Given the description of an element on the screen output the (x, y) to click on. 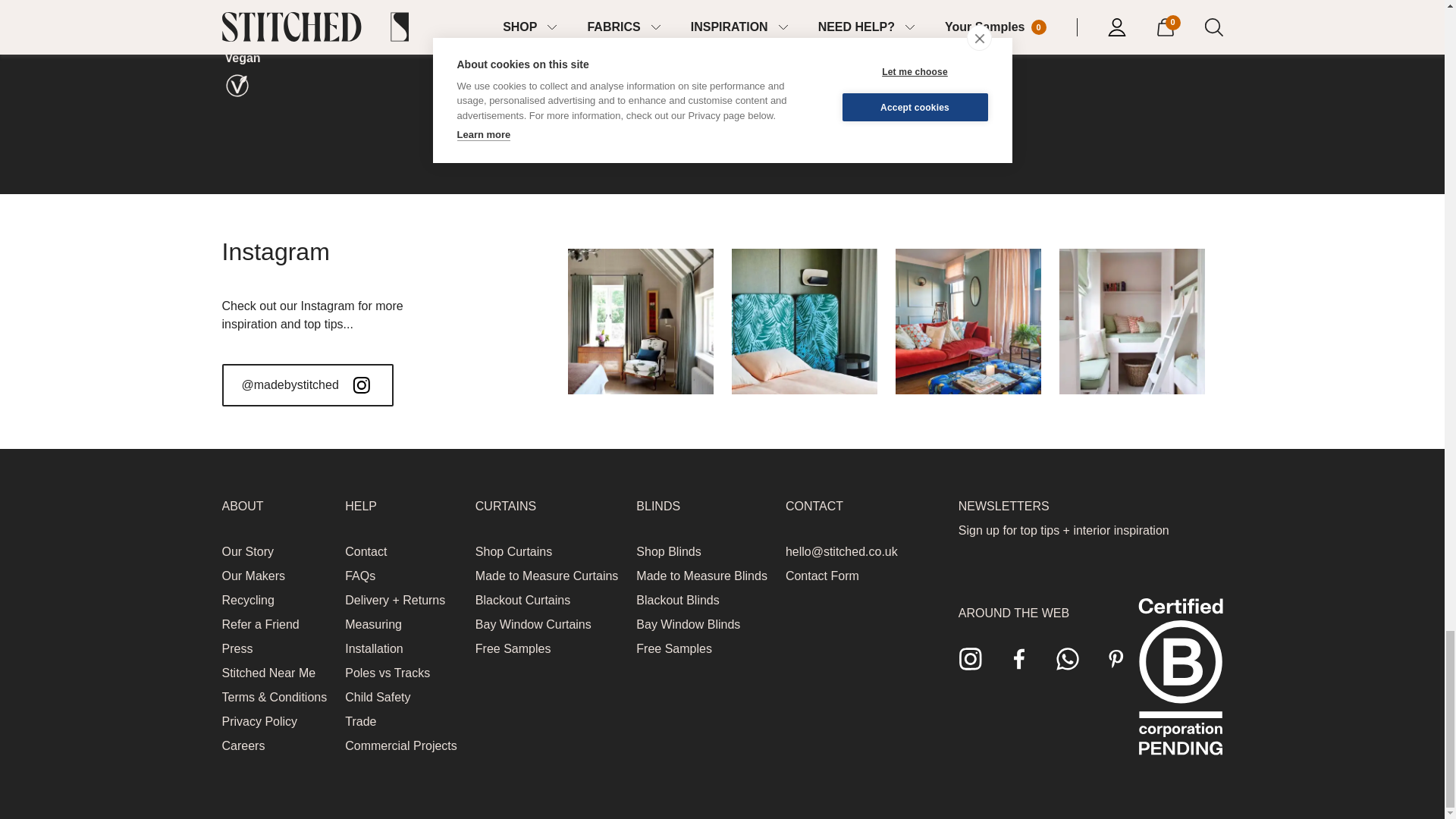
facebook logo (1018, 658)
instagram logo (970, 658)
pinterest logo (1115, 658)
whatsapp logo (1067, 658)
